Given the description of an element on the screen output the (x, y) to click on. 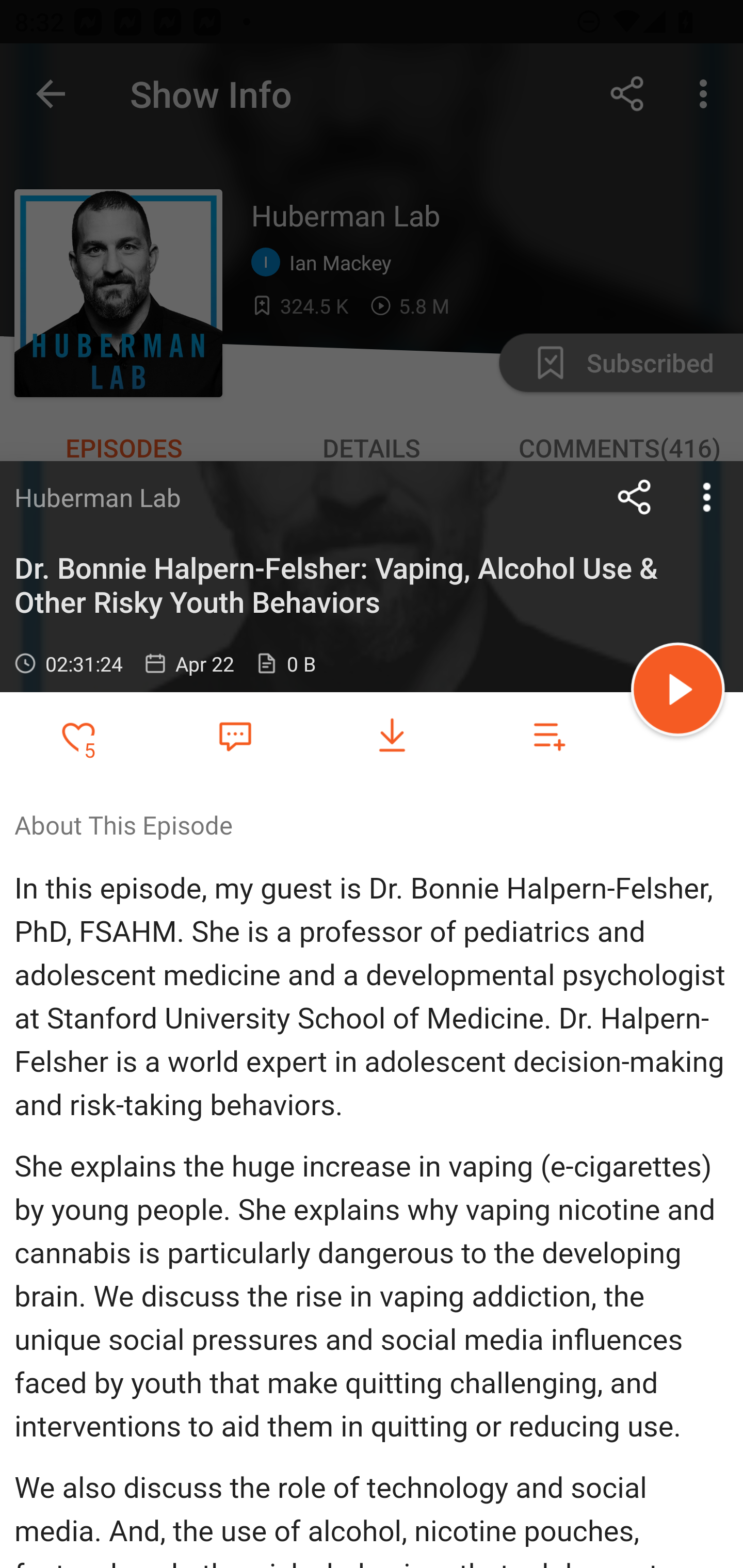
Share (634, 496)
more options (706, 496)
Play (677, 692)
Favorite (234, 735)
Add to Favorites (78, 735)
Download (391, 735)
Add to playlist (548, 735)
